Given the description of an element on the screen output the (x, y) to click on. 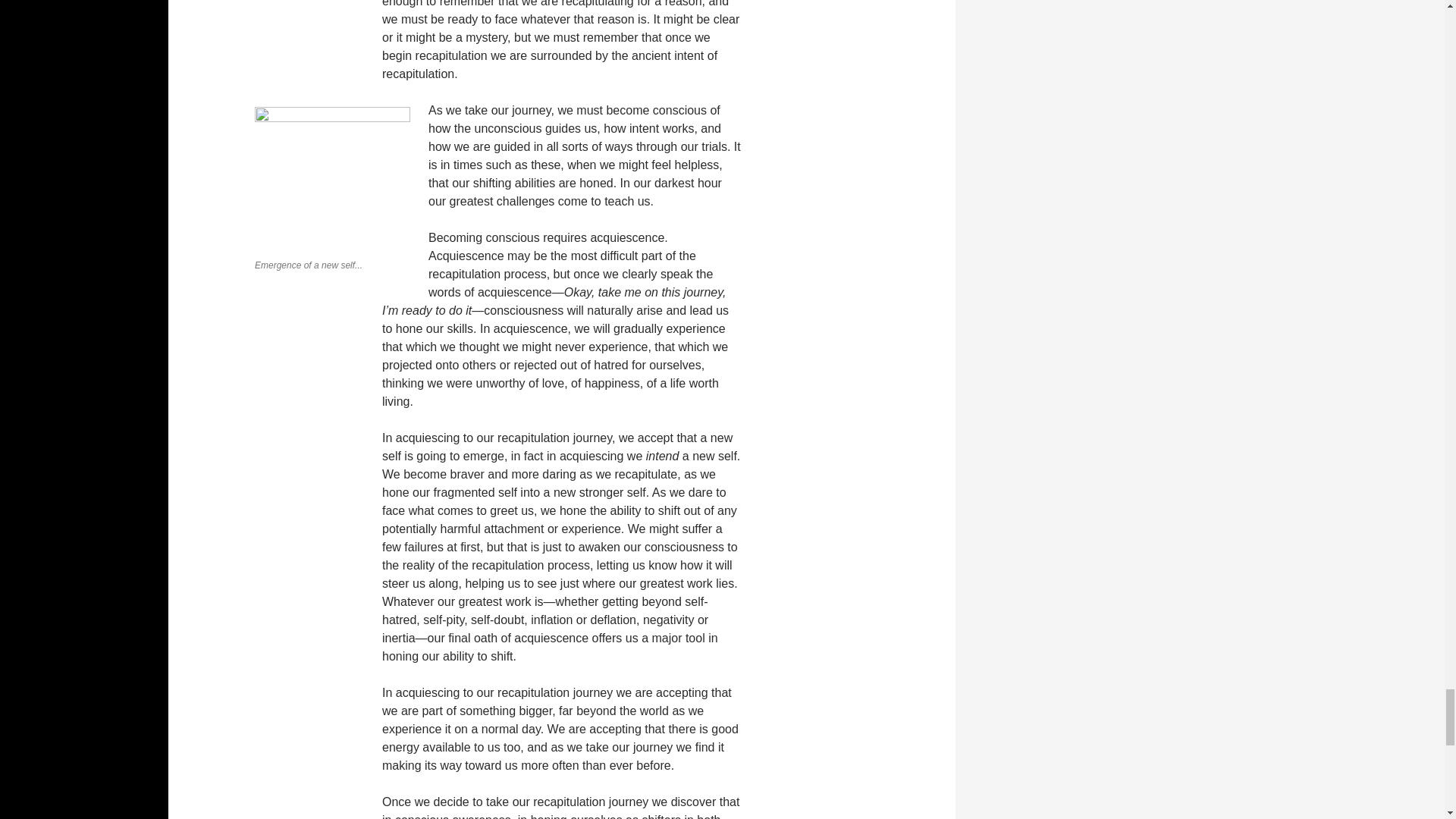
Photo by Jan (332, 179)
